Given the description of an element on the screen output the (x, y) to click on. 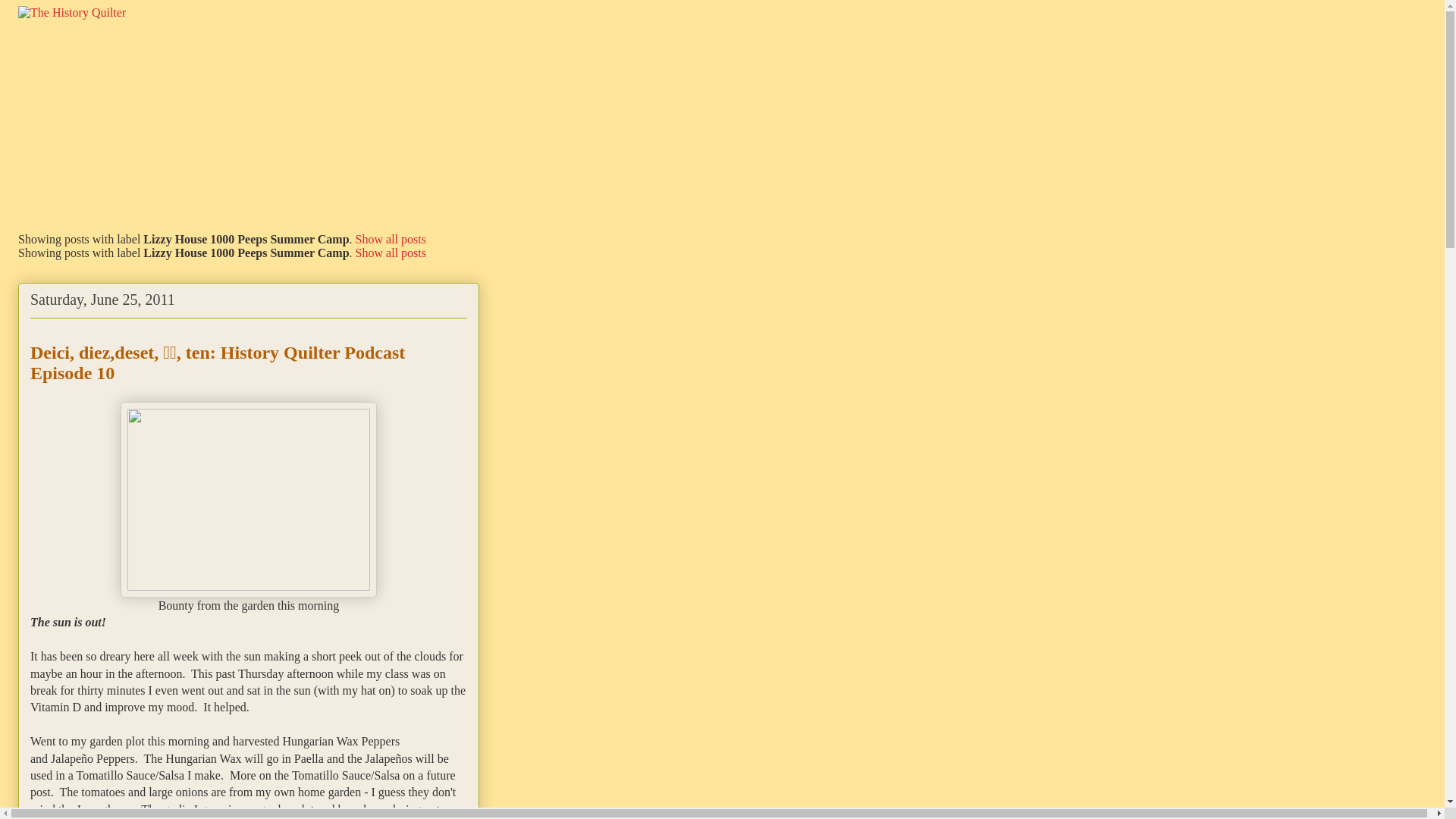
Show all posts (390, 238)
Show all posts (390, 252)
